Given the description of an element on the screen output the (x, y) to click on. 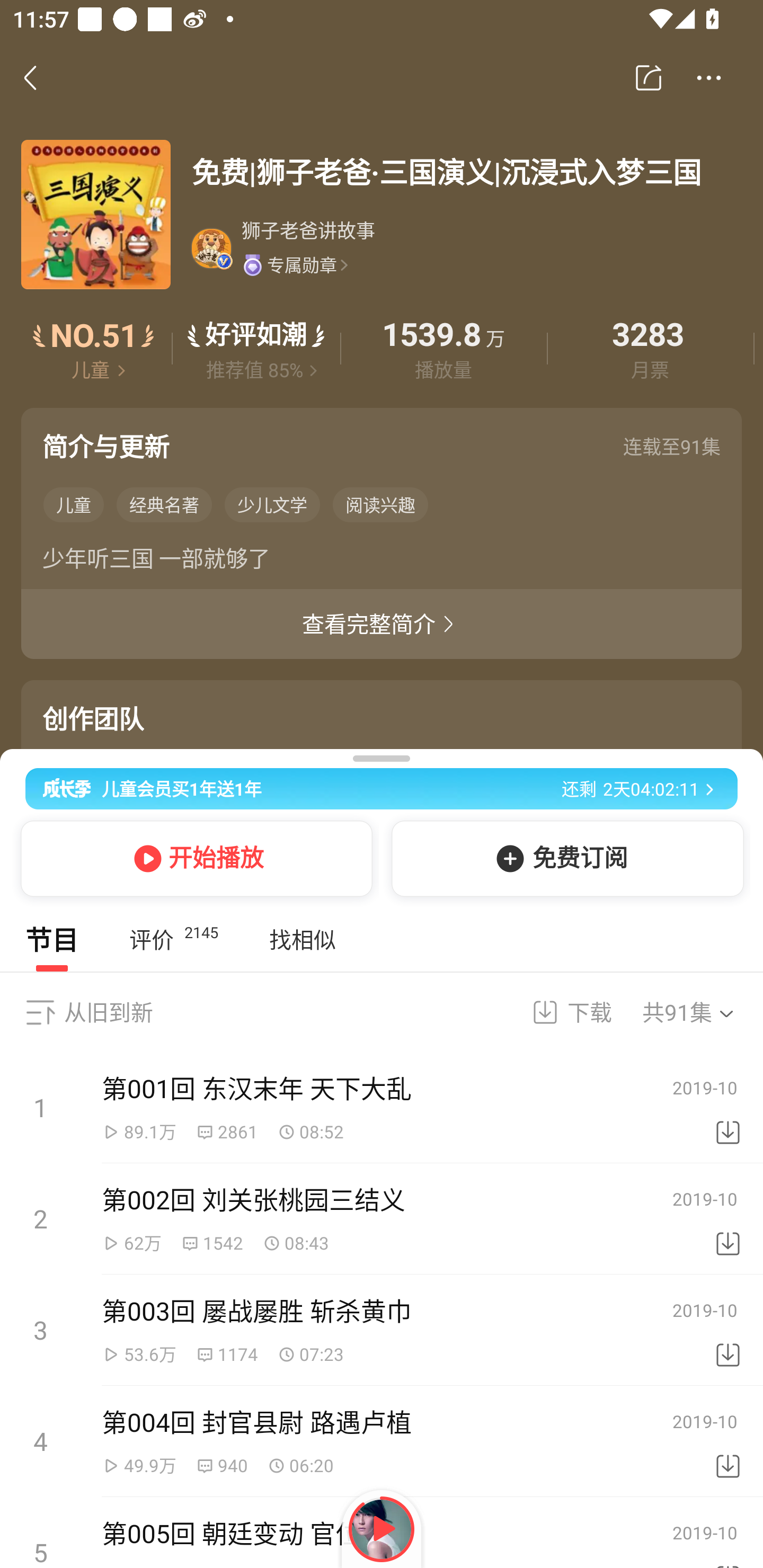
返回 (40, 77)
分享 (648, 78)
更多 (709, 78)
免费|狮子老爸·三国演义|沉浸式入梦三国 (466, 171)
狮子老爸讲故事 专属勋章 (465, 248)
专属勋章 (294, 263)
排行榜 (93, 348)
评价 (255, 348)
儿童 (73, 504)
经典名著 (164, 504)
少儿文学 (271, 504)
阅读兴趣 (380, 504)
少年听三国 一部就够了 (381, 561)
查看完整简介 (381, 623)
儿童会员买1年送1年 还剩 2天 04 : 02 : 11 (381, 785)
开始播放 (193, 858)
免费订阅 (564, 858)
节目 (51, 939)
评价  2145 (173, 939)
找相似 (302, 939)
排序，从旧到新 (40, 1012)
从旧到新 (108, 1012)
下载 (559, 1012)
共91集 选集，共91集 (700, 1012)
1 第001回 东汉末年 天下大乱 2019-10 89.1万 2861 08:52 下载 (381, 1107)
下载 (728, 1108)
2 第002回 刘关张桃园三结义 2019-10 62万 1542 08:43 下载 (381, 1218)
下载 (728, 1218)
3 第003回 屡战屡胜 斩杀黄巾 2019-10 53.6万 1174 07:23 下载 (381, 1330)
下载 (728, 1330)
4 第004回 封官县尉 路遇卢植 2019-10 49.9万 940 06:20 下载 (381, 1441)
下载 (728, 1441)
5 第005回 朝廷变动 官位不保 2019-10 46.6万 793 06:00 下载 (381, 1532)
继续播放Alpha-橘子海OrangeOcean (381, 1529)
